Given the description of an element on the screen output the (x, y) to click on. 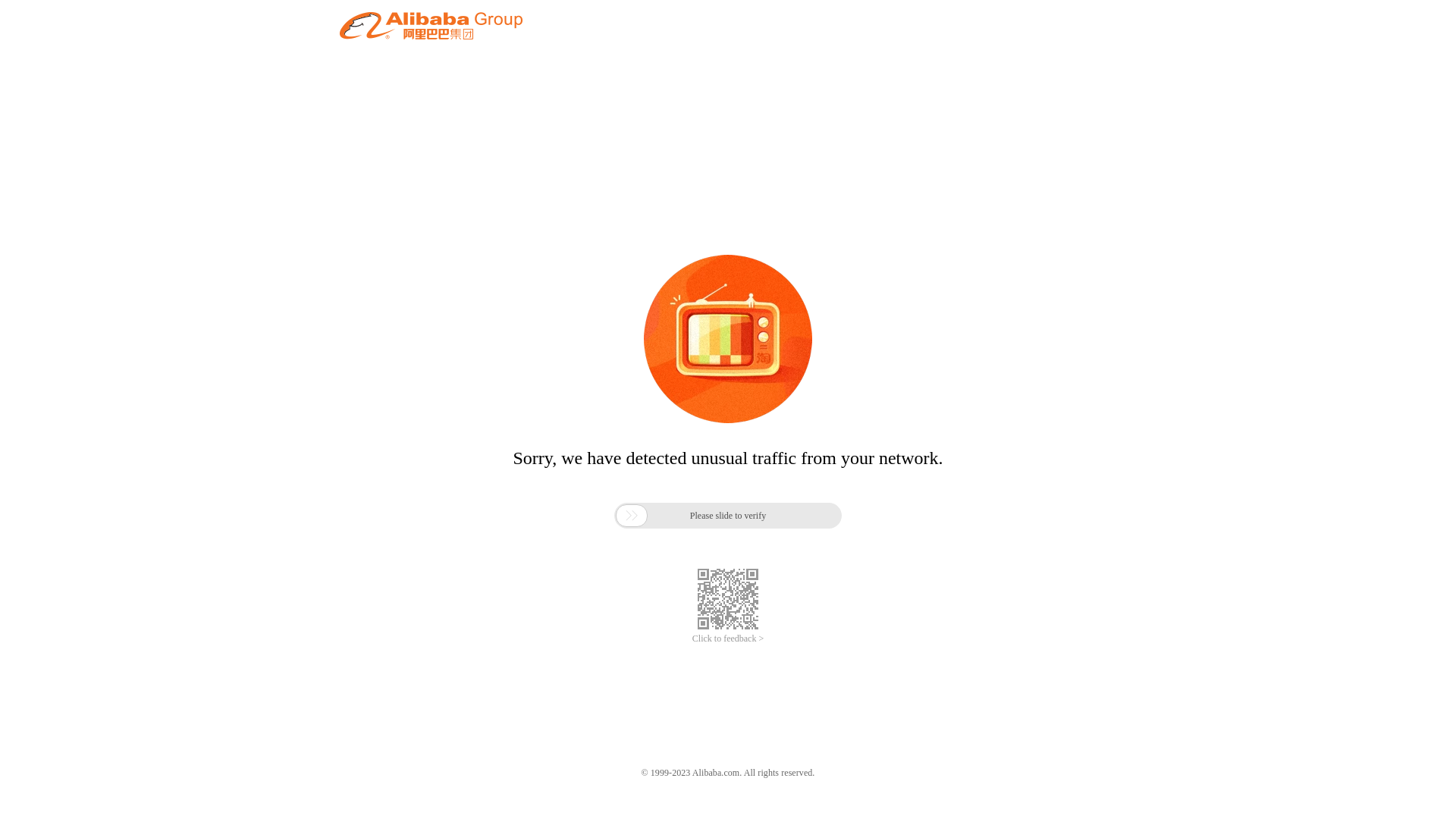
Click to feedback > Element type: text (727, 638)
